Given the description of an element on the screen output the (x, y) to click on. 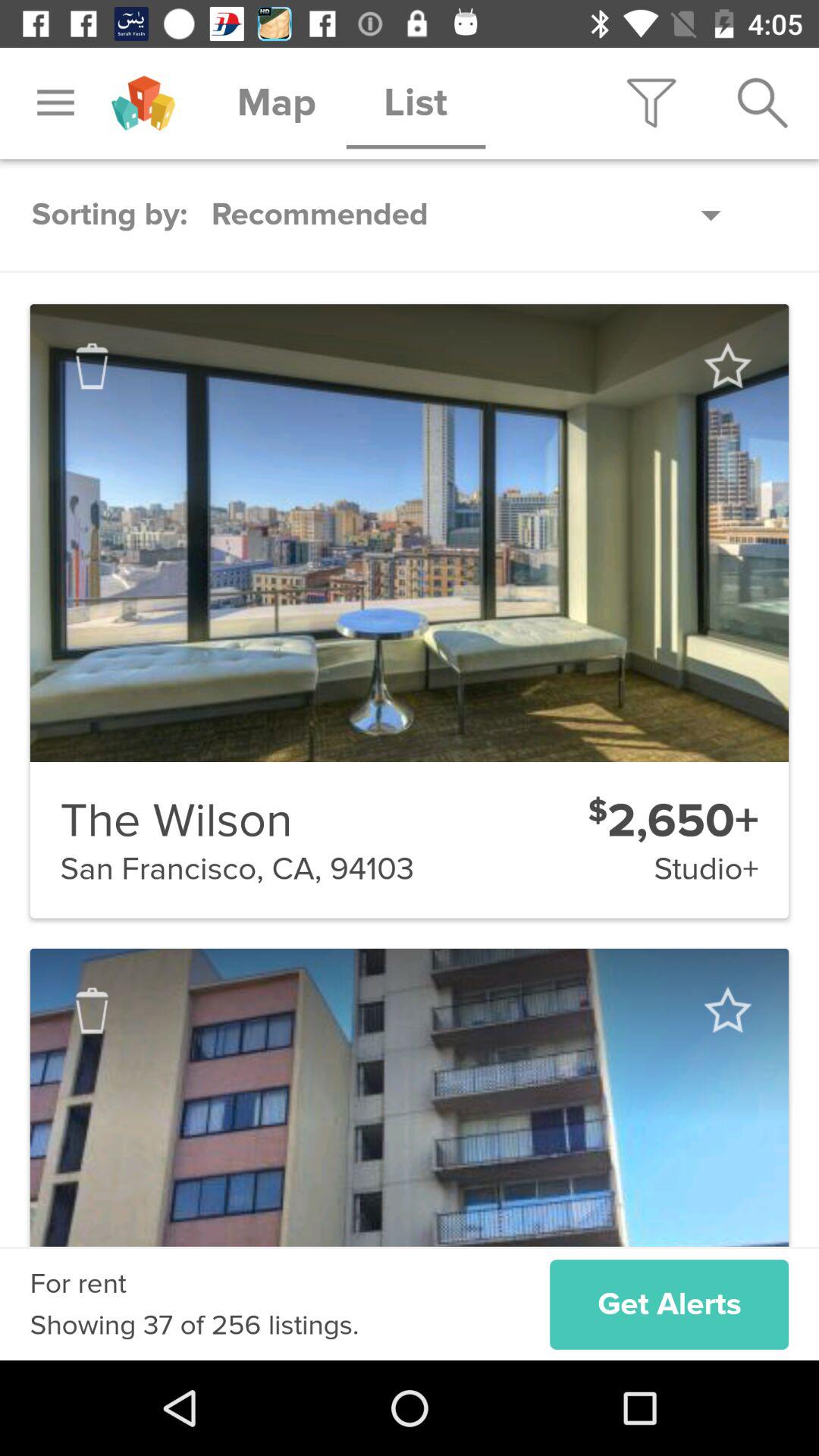
move to trash (92, 366)
